Given the description of an element on the screen output the (x, y) to click on. 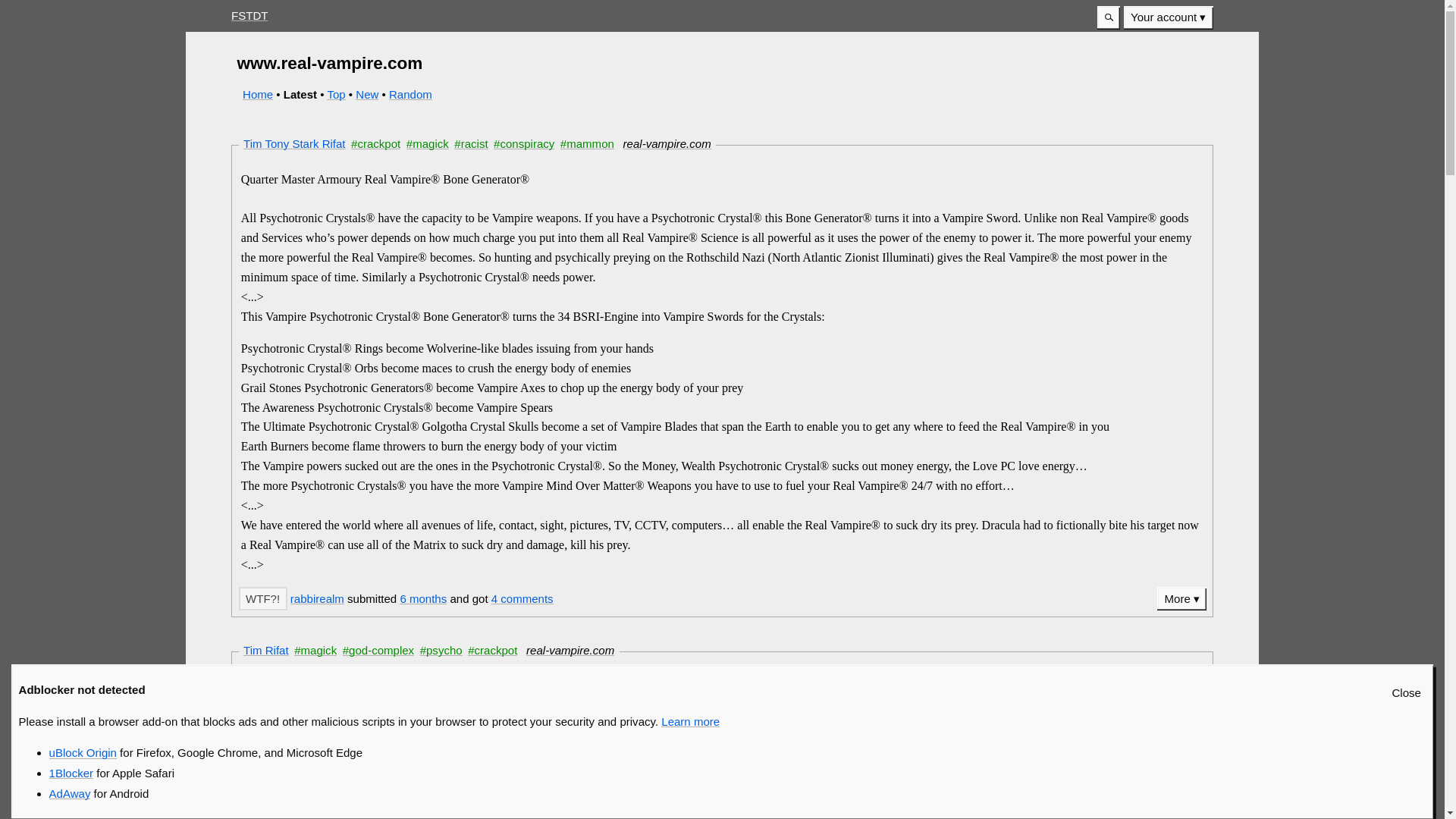
Top (335, 93)
rabbirealm (316, 598)
Home (258, 93)
4 comments (522, 598)
Search (1109, 17)
Tim Tony Stark Rifat (294, 143)
Search (1108, 17)
New (366, 93)
Log in to add star (262, 598)
Random (410, 93)
